Given the description of an element on the screen output the (x, y) to click on. 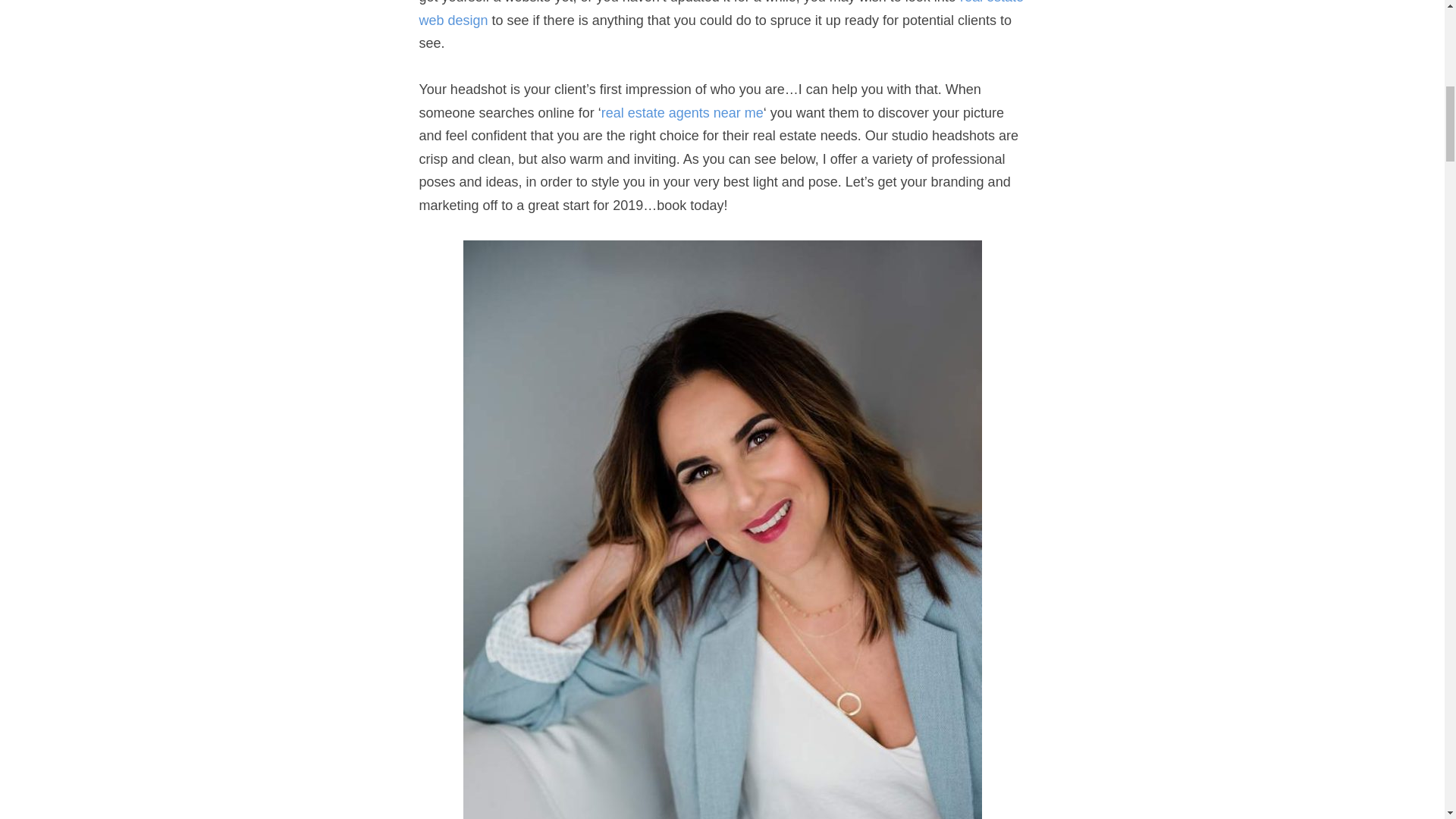
real estate web design (721, 13)
real estate agents near me (681, 112)
